Given the description of an element on the screen output the (x, y) to click on. 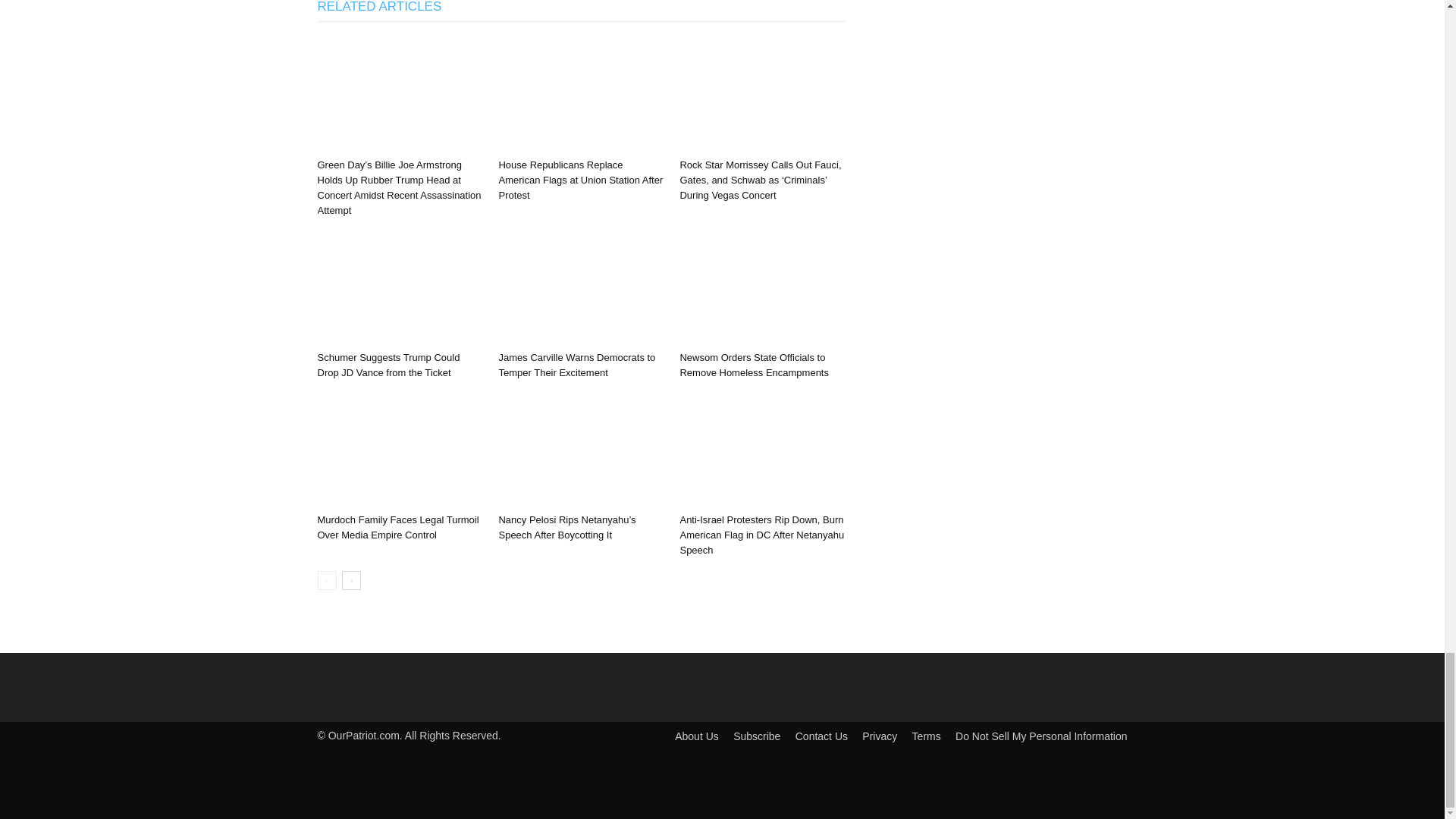
Schumer Suggests Trump Could Drop JD Vance from the Ticket (388, 365)
James Carville Warns Democrats to Temper Their Excitement (576, 365)
Murdoch Family Faces Legal Turmoil Over Media Empire Control (398, 527)
Schumer Suggests Trump Could Drop JD Vance from the Ticket (388, 365)
Schumer Suggests Trump Could Drop JD Vance from the Ticket (399, 287)
RELATED ARTICLES (379, 10)
James Carville Warns Democrats to Temper Their Excitement (576, 365)
James Carville Warns Democrats to Temper Their Excitement (580, 287)
Newsom Orders State Officials to Remove Homeless Encampments (753, 365)
